Given the description of an element on the screen output the (x, y) to click on. 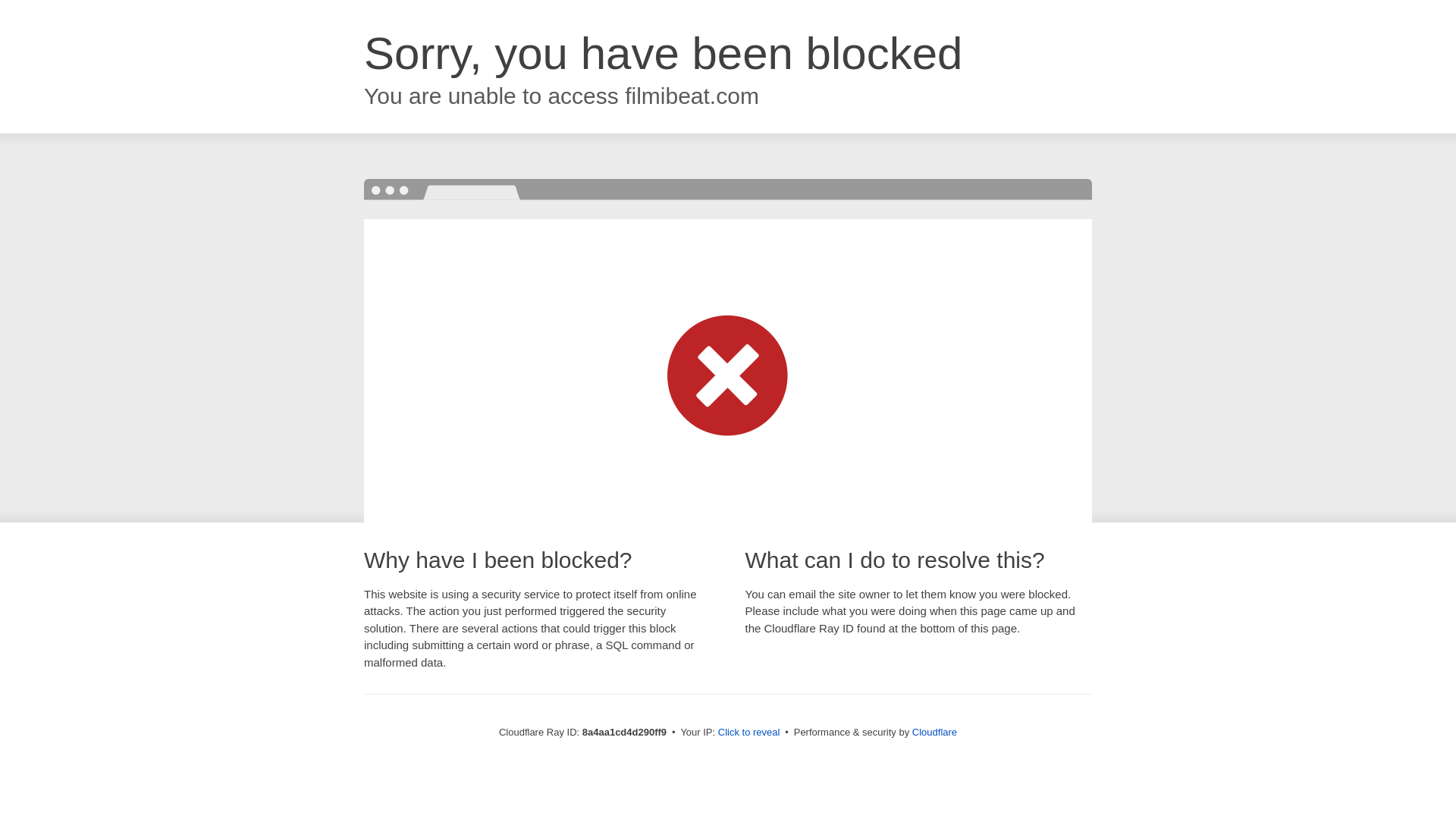
Click to reveal (748, 732)
Cloudflare (934, 731)
